Given the description of an element on the screen output the (x, y) to click on. 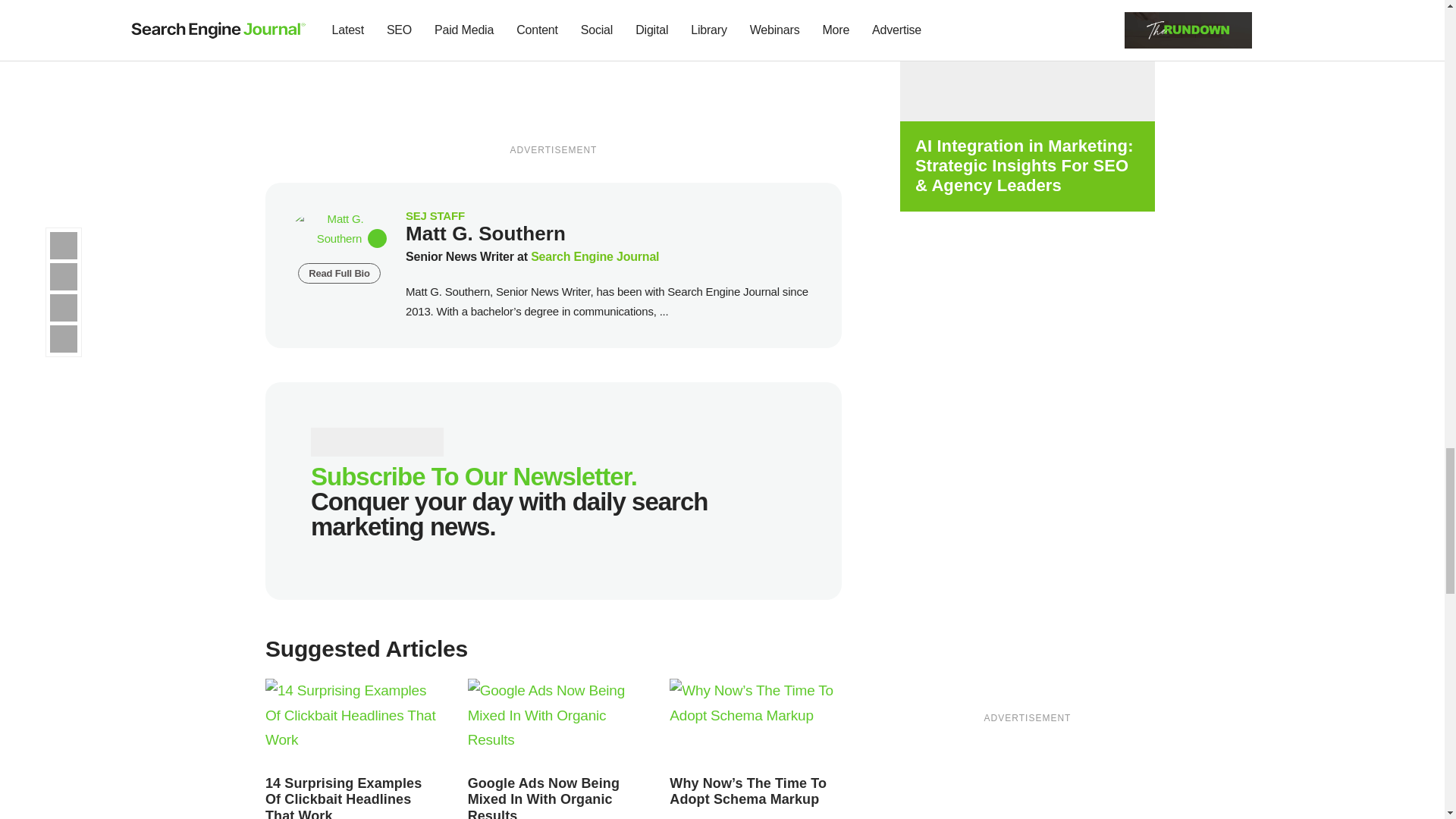
Read the Article (543, 797)
Read the Article (351, 723)
Read the Article (748, 791)
Read the Article (553, 723)
Read the Article (343, 797)
Read the Article (755, 723)
